Given the description of an element on the screen output the (x, y) to click on. 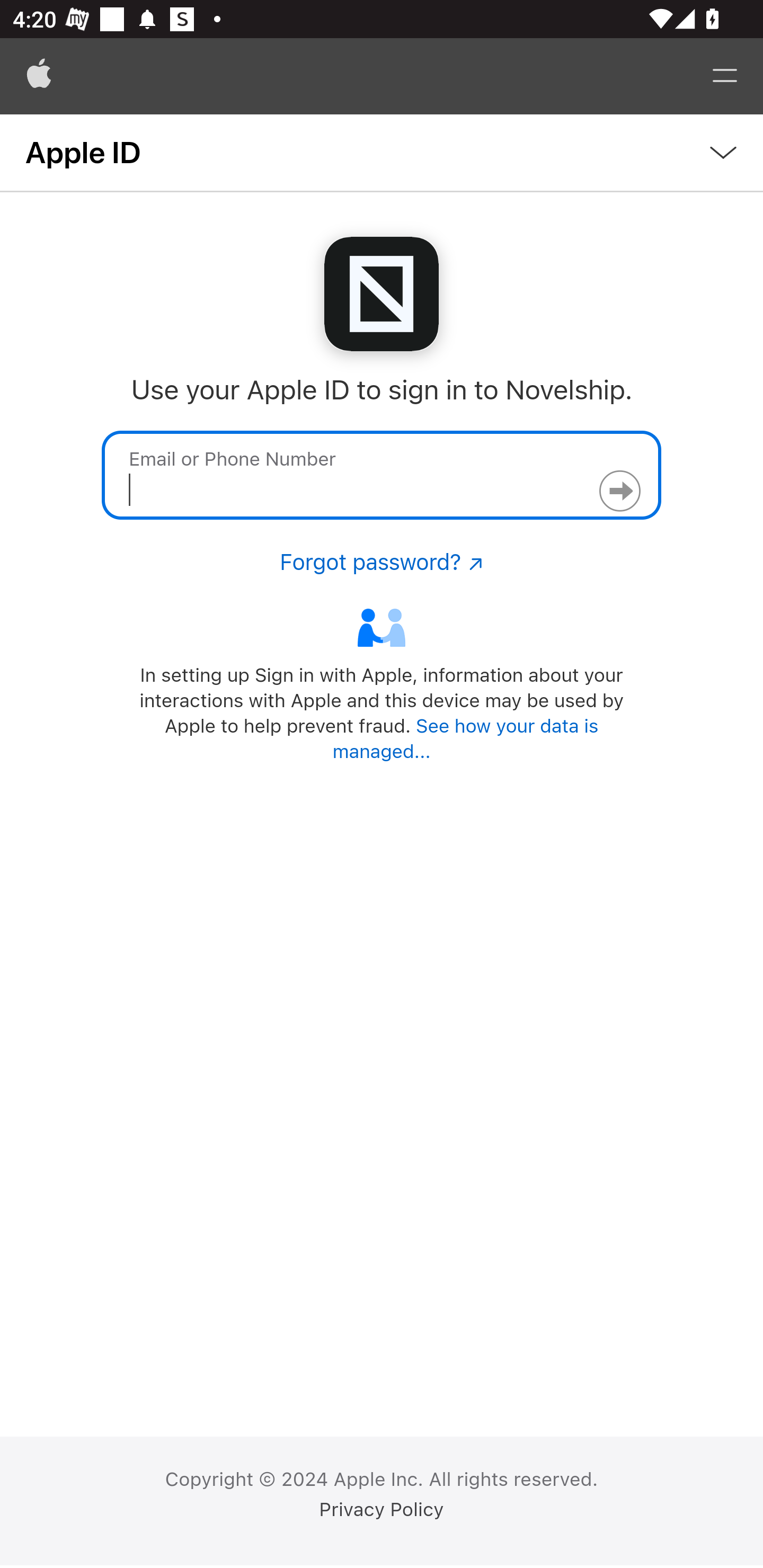
Apple (38, 75)
Menu (724, 75)
Continue (618, 490)
Privacy Policy (381, 1509)
